Given the description of an element on the screen output the (x, y) to click on. 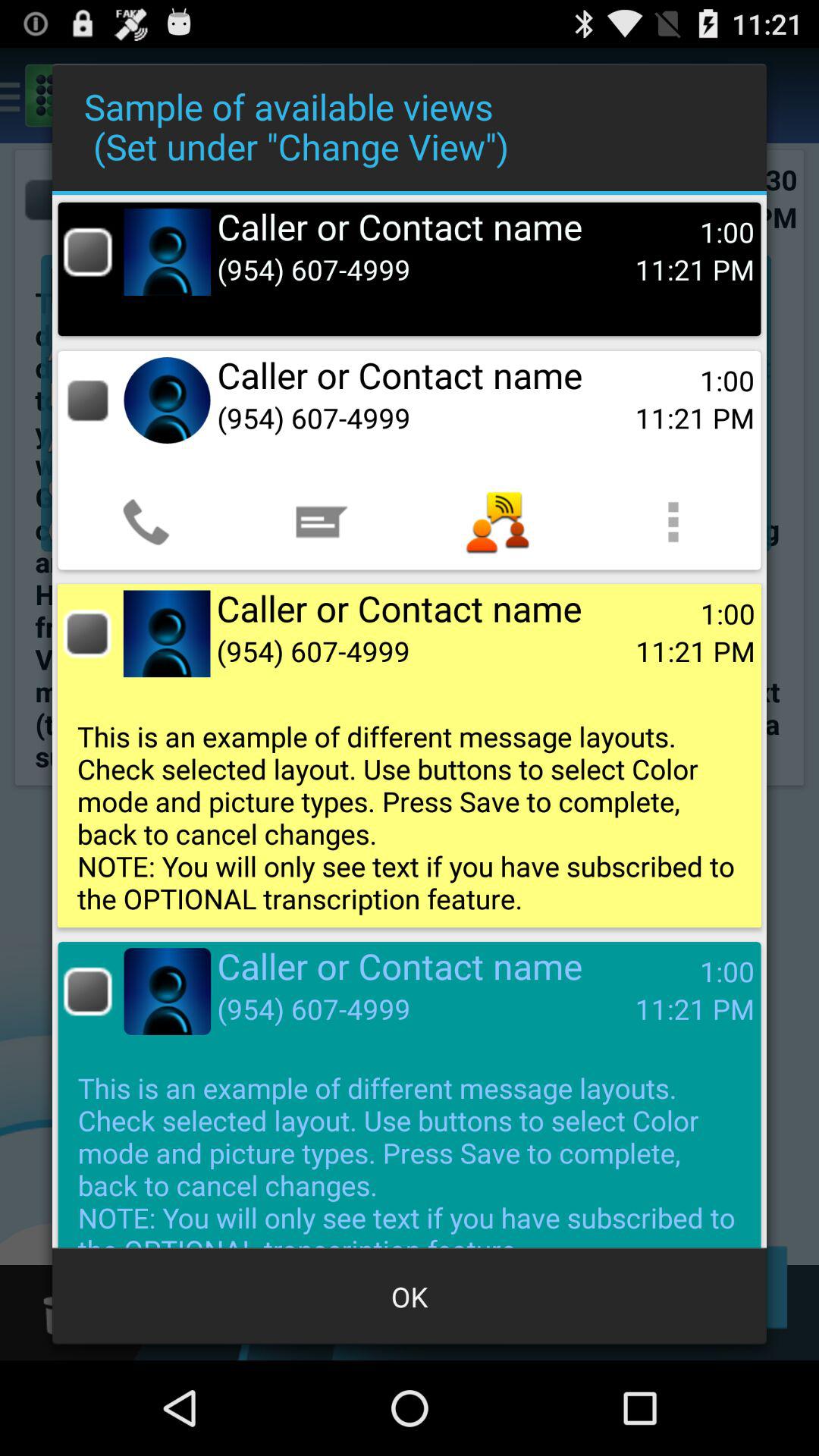
tap the icon above the caller or contact app (321, 521)
